Given the description of an element on the screen output the (x, y) to click on. 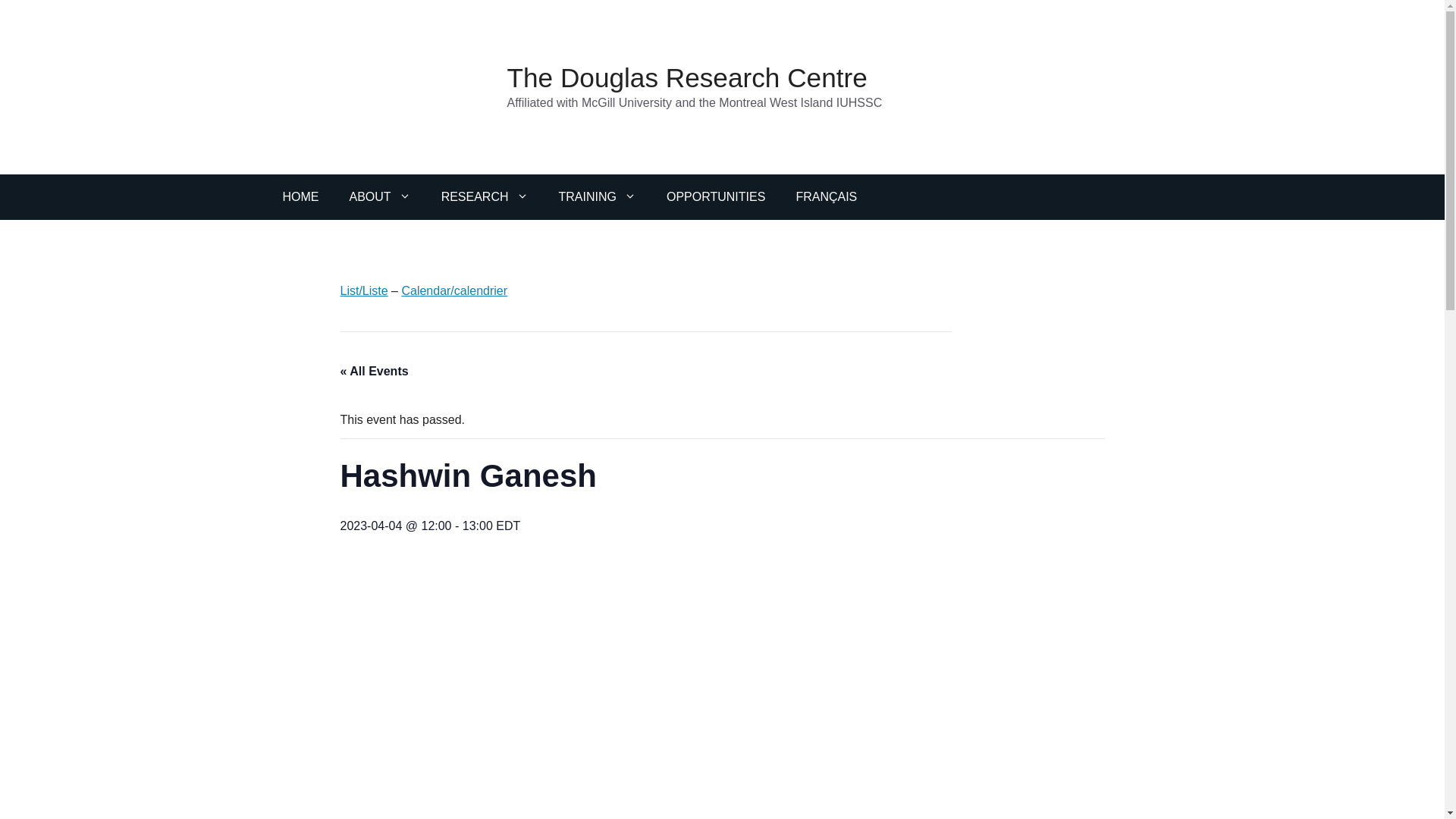
ABOUT (379, 197)
HOME (299, 197)
RESEARCH (484, 197)
The Douglas Research Centre (686, 77)
TRAINING (596, 197)
